Given the description of an element on the screen output the (x, y) to click on. 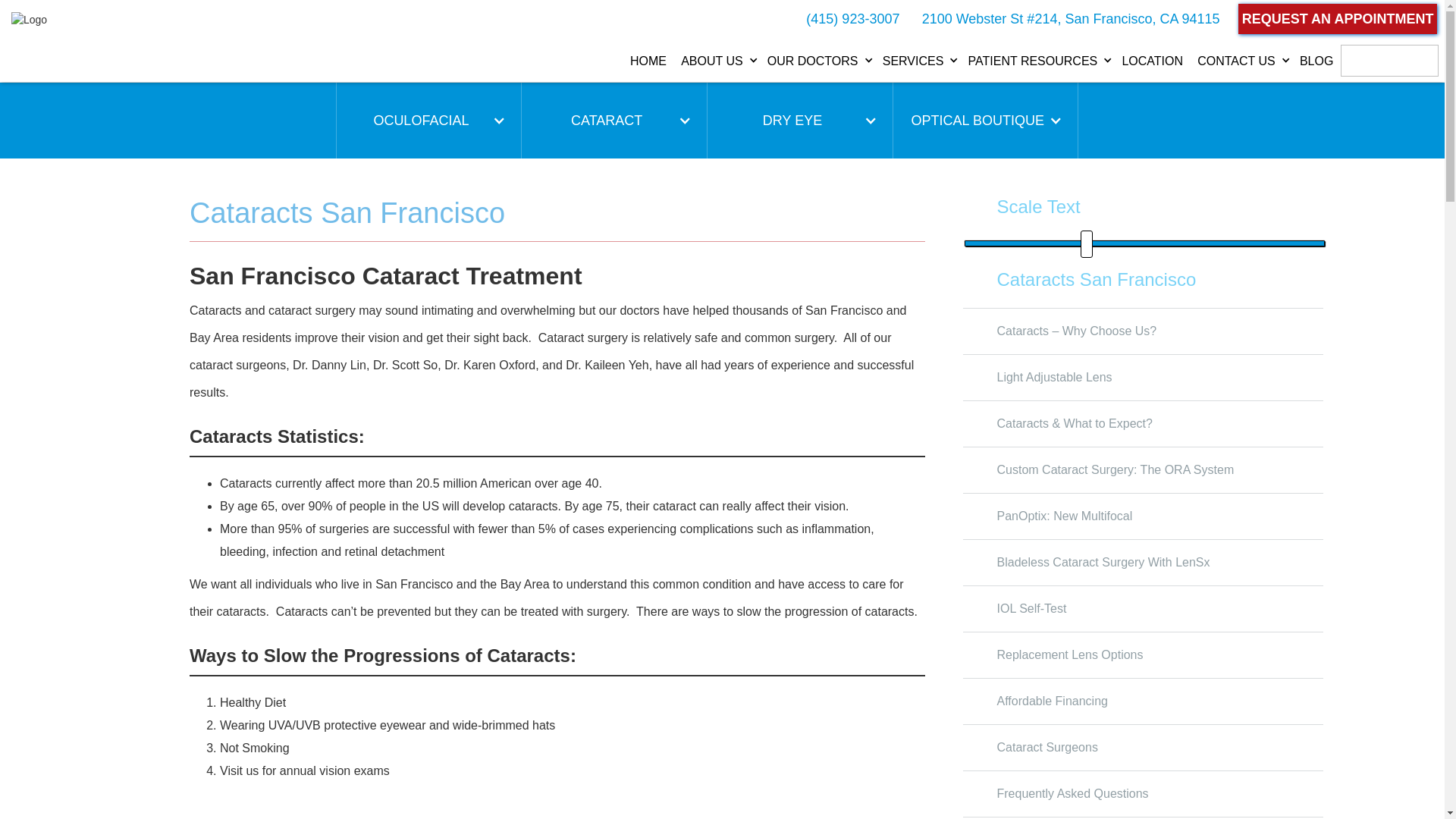
OUR DOCTORS (817, 61)
SERVICES (917, 61)
16 (1143, 243)
Pacific Eye Associates  (647, 62)
Our Doctors (817, 61)
REQUEST AN APPOINTMENT (1338, 19)
PATIENT RESOURCES (1037, 61)
About Us (717, 61)
Request An Appointment (1338, 19)
HOME (647, 62)
Services (917, 61)
ABOUT US (717, 61)
